Given the description of an element on the screen output the (x, y) to click on. 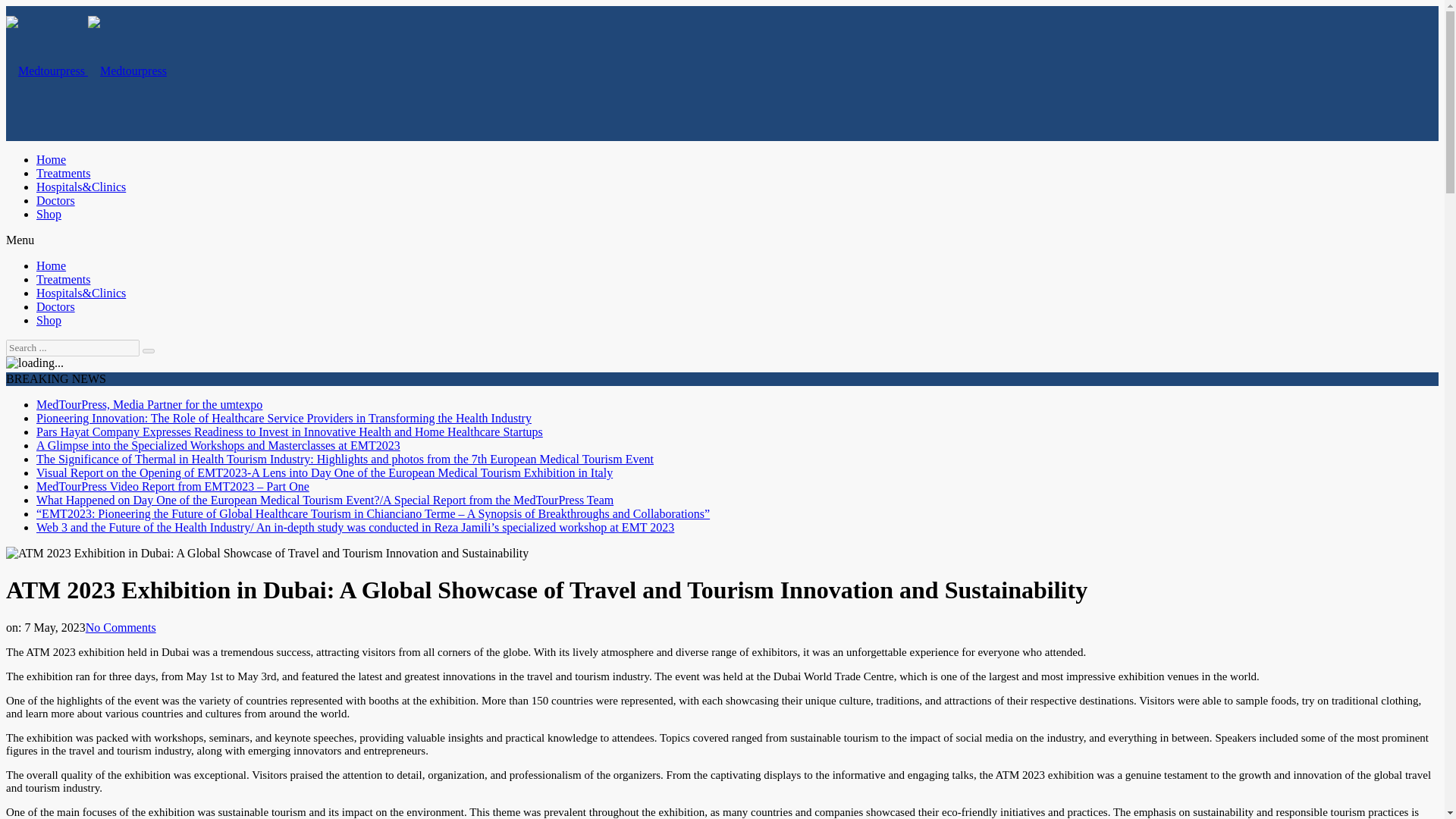
Home (50, 265)
Shop (48, 214)
MedTourPress, Media Partner for the umtexpo (149, 404)
Shop (48, 319)
Doctors (55, 306)
No Comments (120, 626)
Treatments (63, 173)
Home (50, 159)
Treatments (63, 278)
Doctors (55, 200)
